Given the description of an element on the screen output the (x, y) to click on. 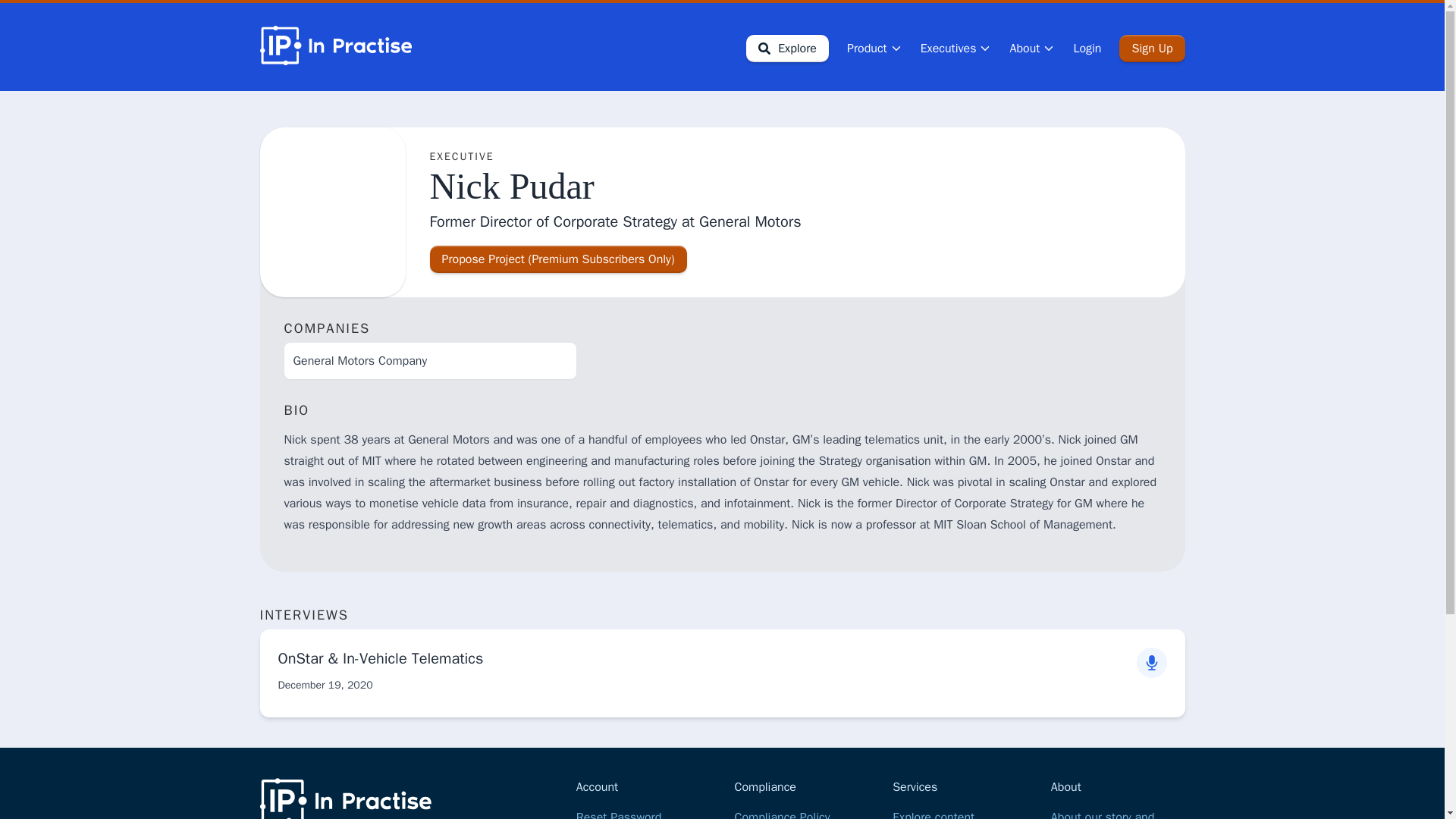
Account menu (874, 48)
About (1031, 48)
Account menu (955, 48)
Product (874, 48)
Account menu (1031, 48)
Executives (955, 48)
Sign Up (1152, 48)
Explore (786, 48)
Login (1086, 48)
